Given the description of an element on the screen output the (x, y) to click on. 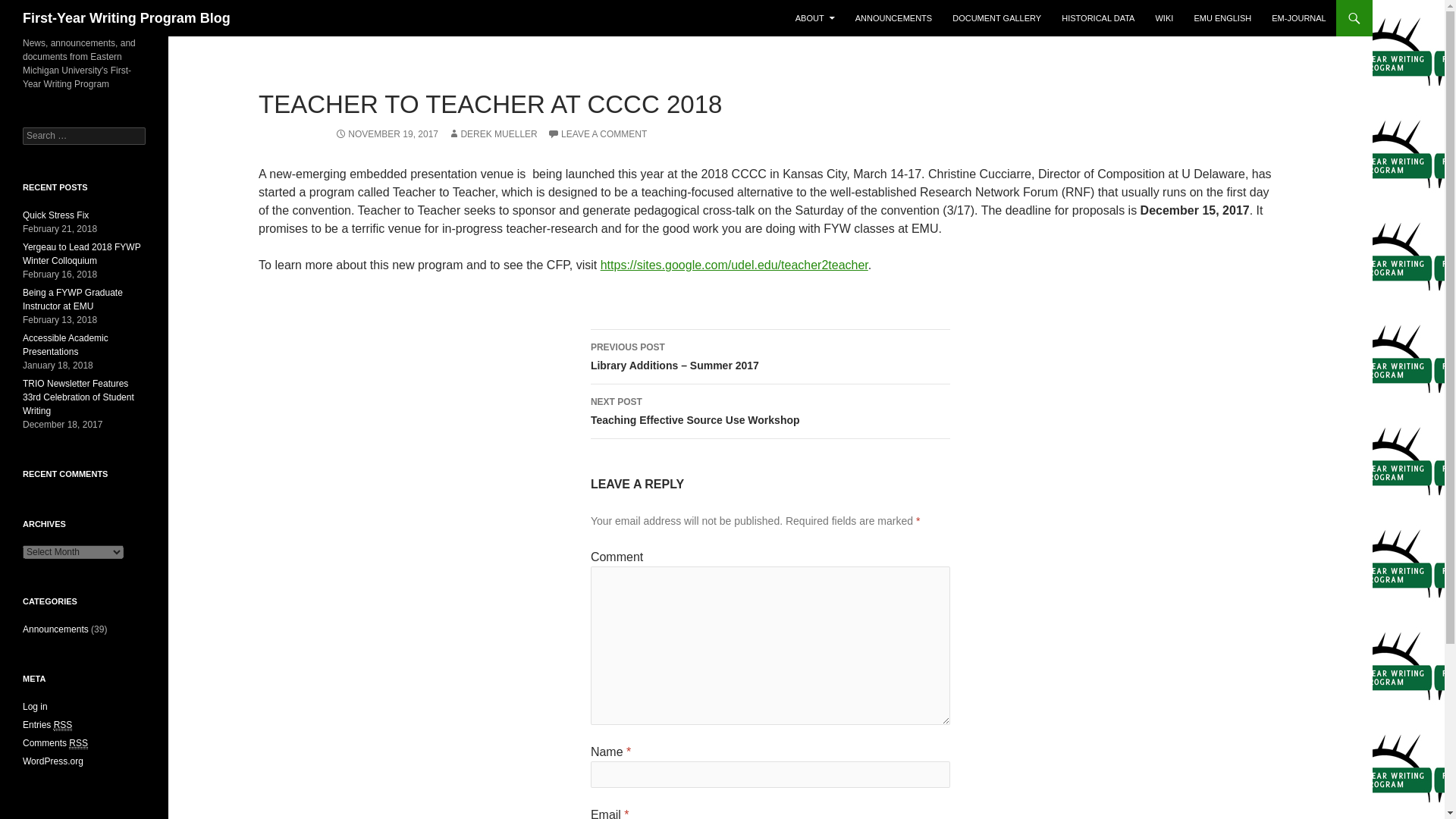
WordPress.org (52, 760)
Entries RSS (47, 725)
DOCUMENT GALLERY (996, 18)
Really Simple Syndication (62, 725)
TRIO Newsletter Features 33rd Celebration of Student Writing (78, 397)
Accessible Academic Presentations (65, 344)
HISTORICAL DATA (1097, 18)
ANNOUNCEMENTS (892, 18)
EM-JOURNAL (1298, 18)
WIKI (1163, 18)
ABOUT (815, 18)
Announcements (55, 629)
Being a FYWP Graduate Instructor at EMU (72, 299)
Comments RSS (55, 743)
